Given the description of an element on the screen output the (x, y) to click on. 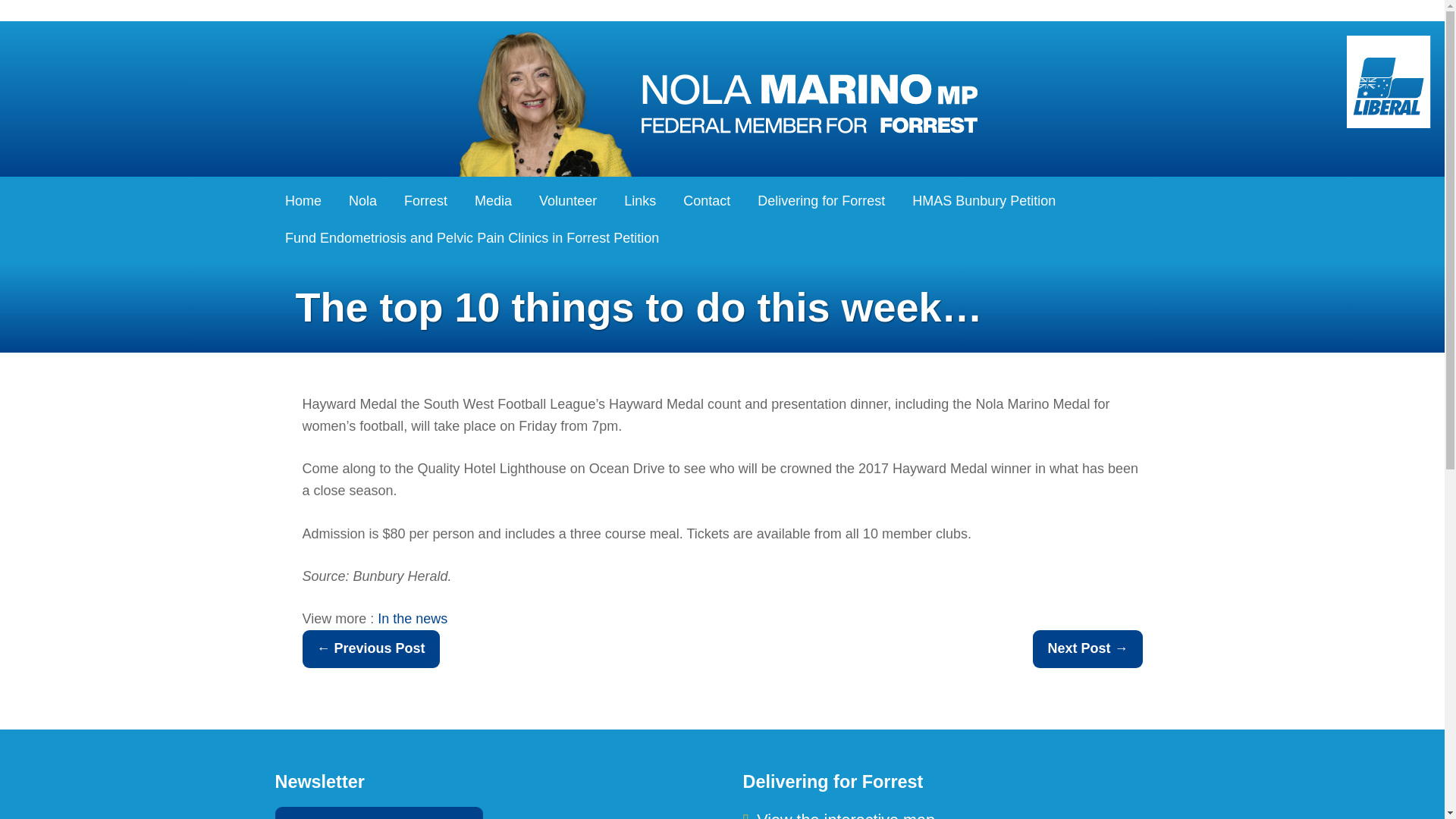
Media (493, 200)
Nola (363, 200)
Forrest (426, 200)
View the interactive map (839, 814)
Sign up to our newsletter (379, 812)
Volunteer (568, 200)
Contact (706, 200)
Links (640, 200)
Home (303, 200)
Delivering for Forrest (821, 200)
In the news (411, 618)
HMAS Bunbury Petition (983, 200)
